Given the description of an element on the screen output the (x, y) to click on. 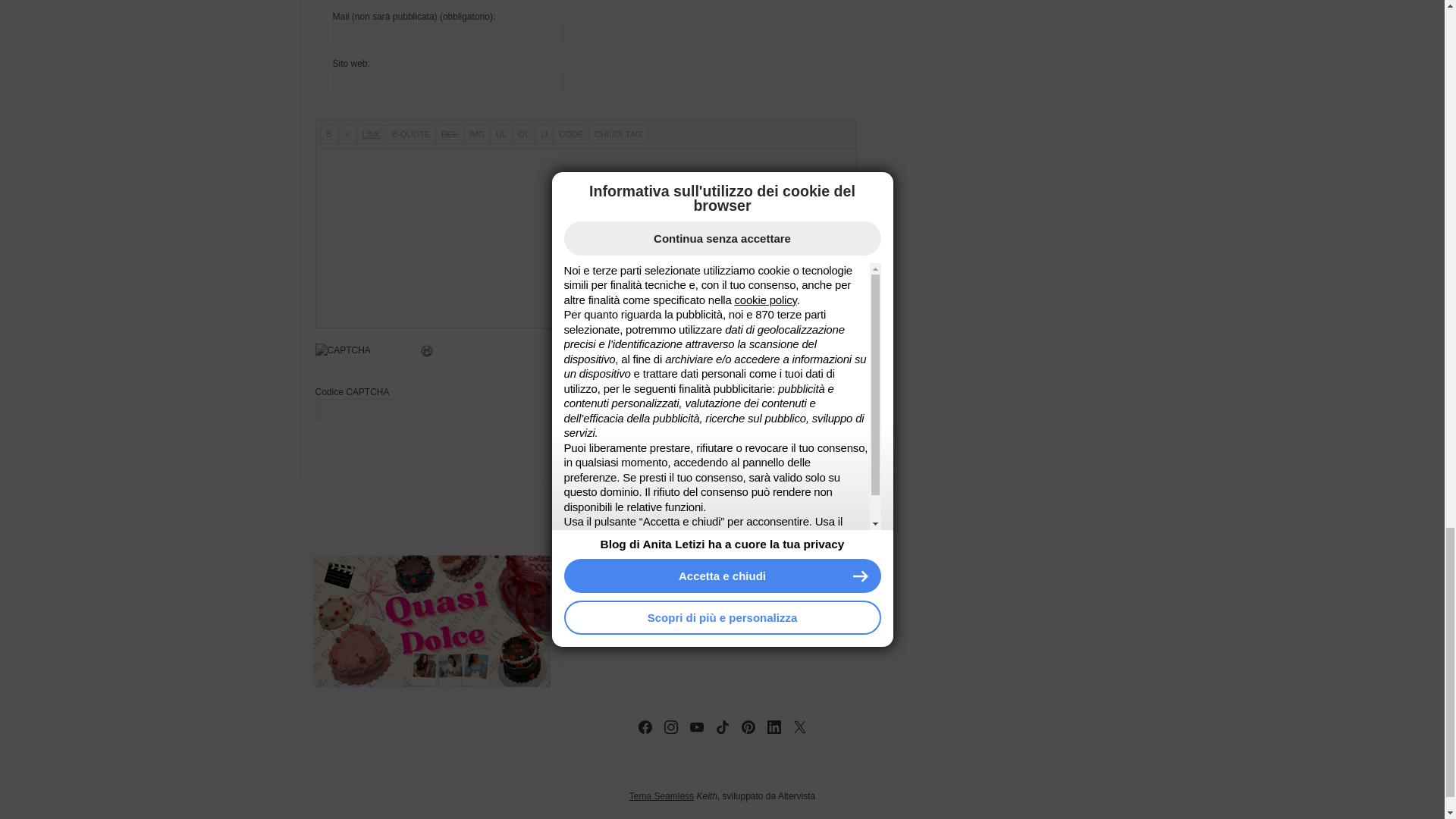
Refresh (427, 351)
img (476, 134)
ul (500, 134)
Chiudi tutti i tag aperti (617, 134)
li (543, 134)
b-quote (410, 134)
code (571, 134)
link (371, 134)
del (449, 134)
Youtube (696, 727)
Instagram (671, 727)
CAPTCHA (367, 360)
chiudi tag (617, 134)
Facebook (644, 727)
Invia (825, 459)
